Given the description of an element on the screen output the (x, y) to click on. 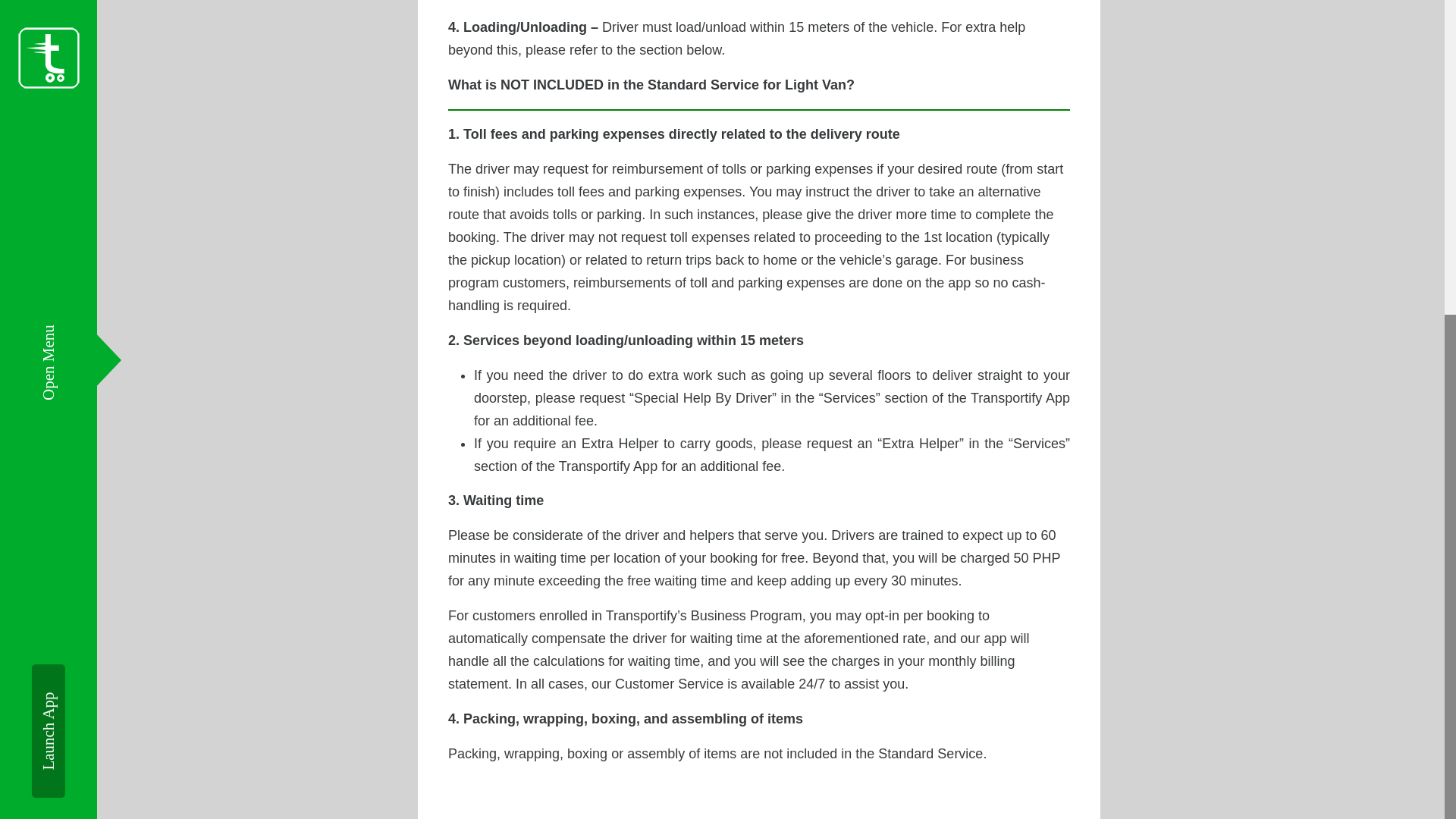
Launch App (98, 168)
